Given the description of an element on the screen output the (x, y) to click on. 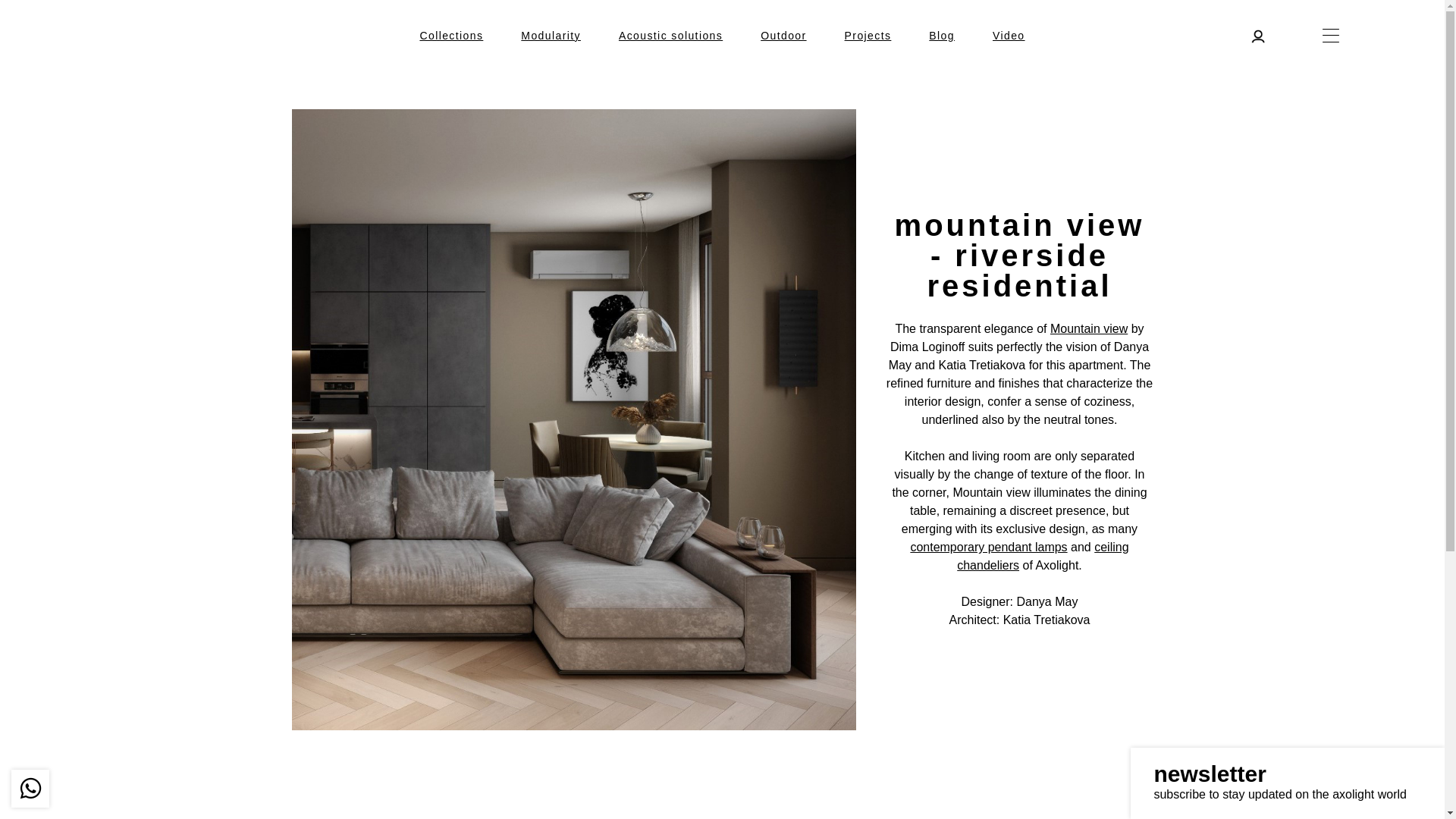
Blog (941, 35)
Outdoor (783, 35)
Modularity (550, 35)
ceiling chandeliers (1042, 555)
Video (1008, 35)
Acoustic solutions (670, 35)
Collections (451, 35)
Projects (867, 35)
Mountain view (1087, 328)
contemporary pendant lamps (988, 546)
